Given the description of an element on the screen output the (x, y) to click on. 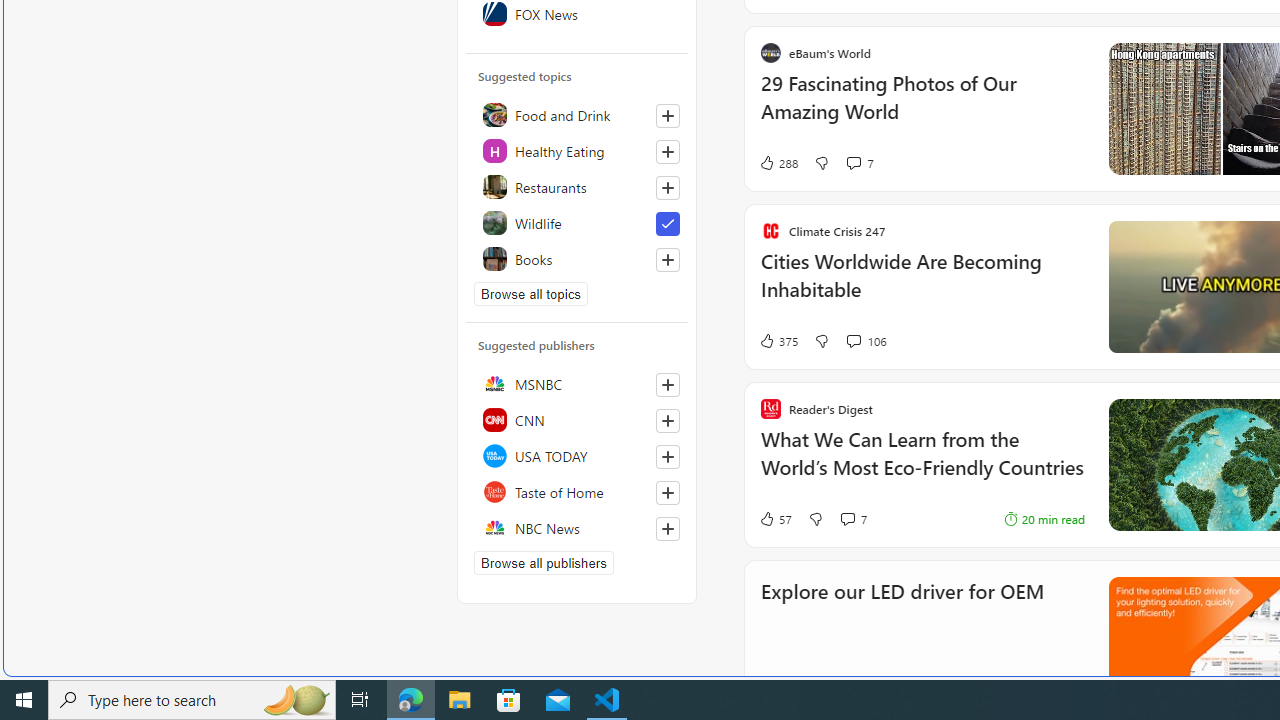
Healthy Eating (577, 150)
Follow this source (667, 528)
Food and Drink (577, 114)
Browse all topics (530, 294)
Follow this source (667, 528)
Books (577, 258)
CNN (577, 420)
288 Like (778, 162)
View comments 106 Comment (852, 340)
View comments 106 Comment (865, 340)
57 Like (775, 518)
